Given the description of an element on the screen output the (x, y) to click on. 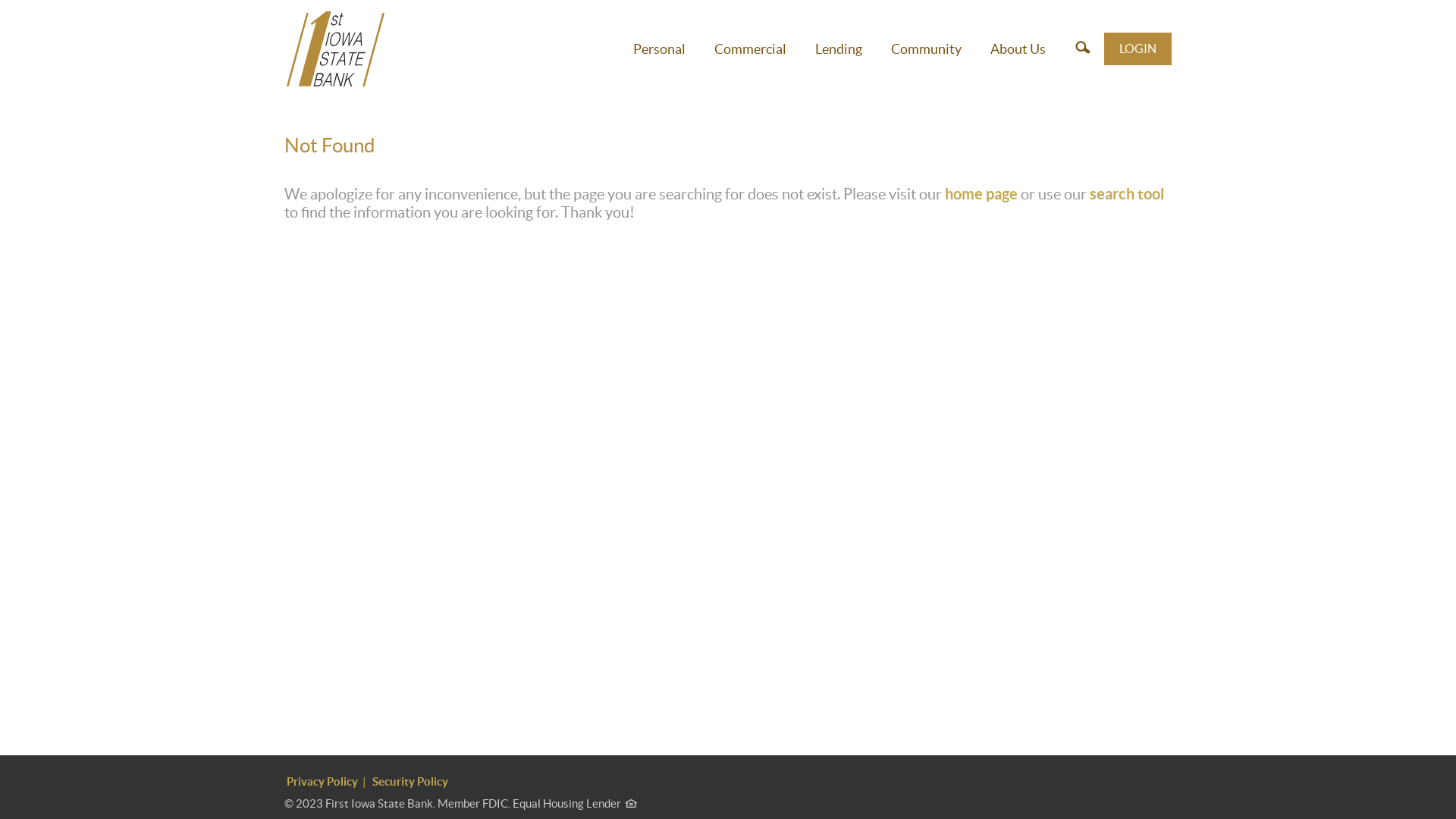
search tool Element type: text (1126, 193)
Privacy Policy Element type: text (321, 781)
LOGIN Element type: text (1137, 48)
home page Element type: text (980, 193)
First Iowa State Bank, Albia, IA Element type: hover (335, 48)
Security Policy Element type: text (410, 781)
